Given the description of an element on the screen output the (x, y) to click on. 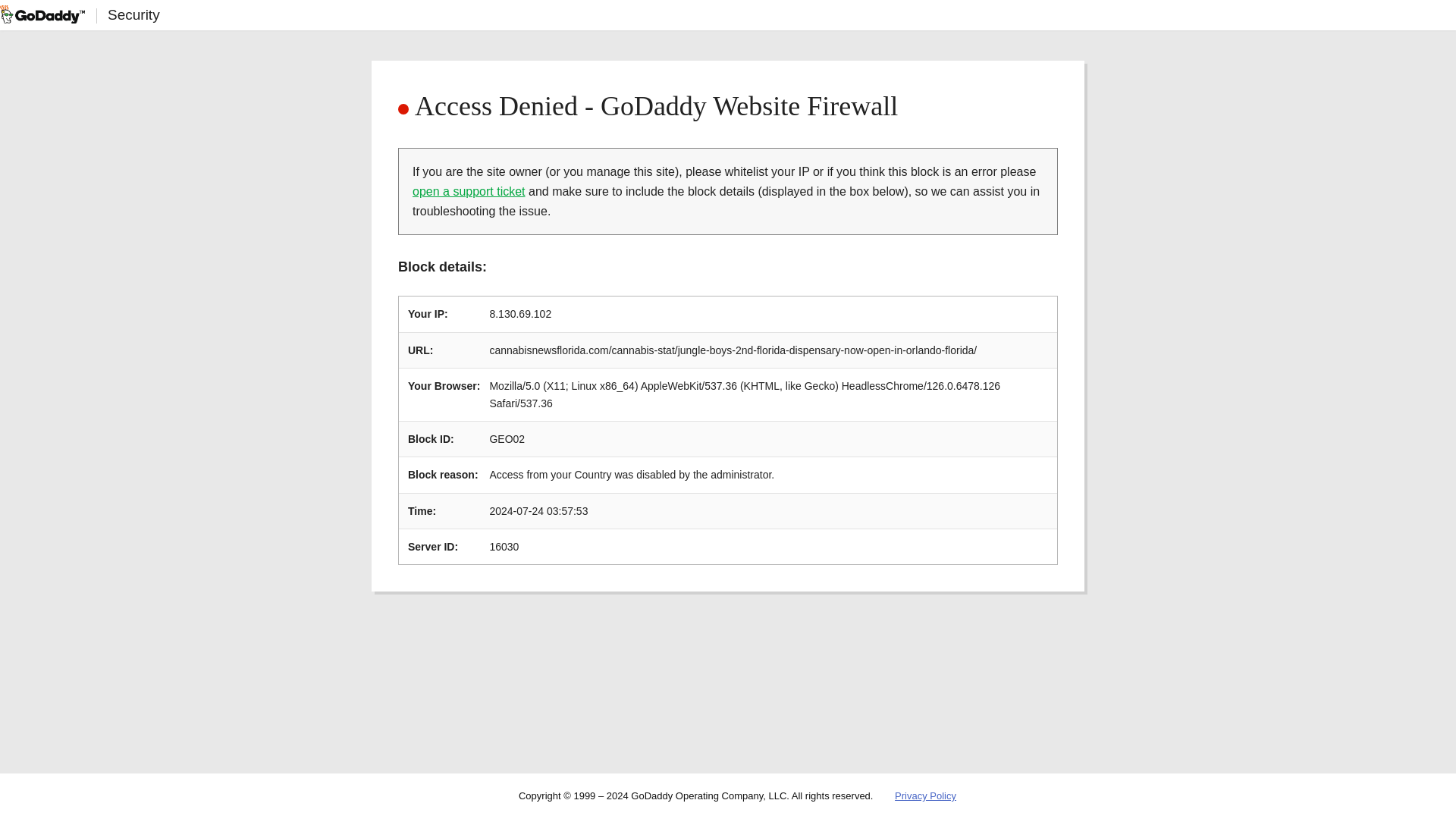
Privacy Policy (925, 795)
open a support ticket (468, 191)
